Given the description of an element on the screen output the (x, y) to click on. 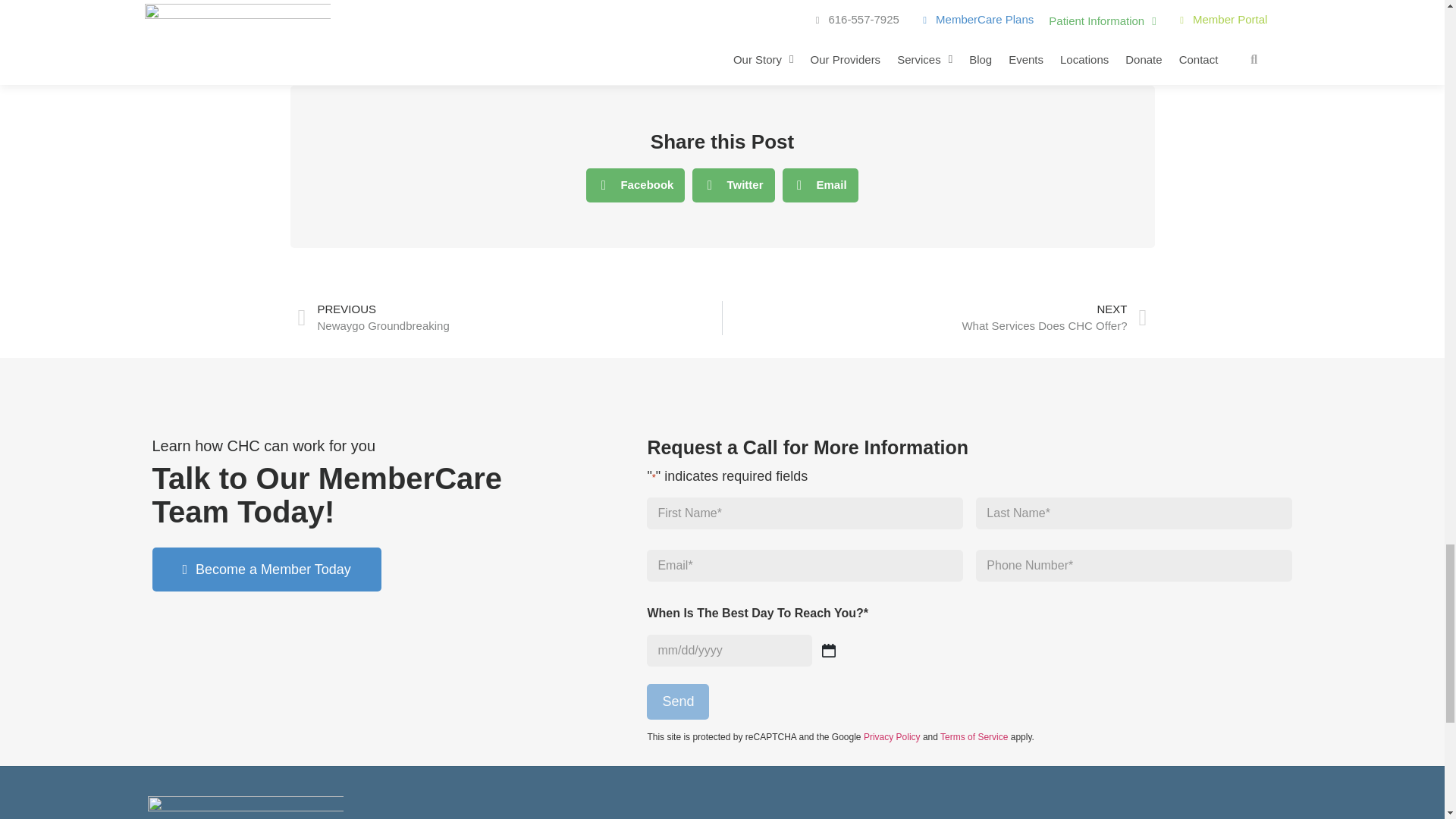
Send (677, 701)
Select date (828, 650)
